Given the description of an element on the screen output the (x, y) to click on. 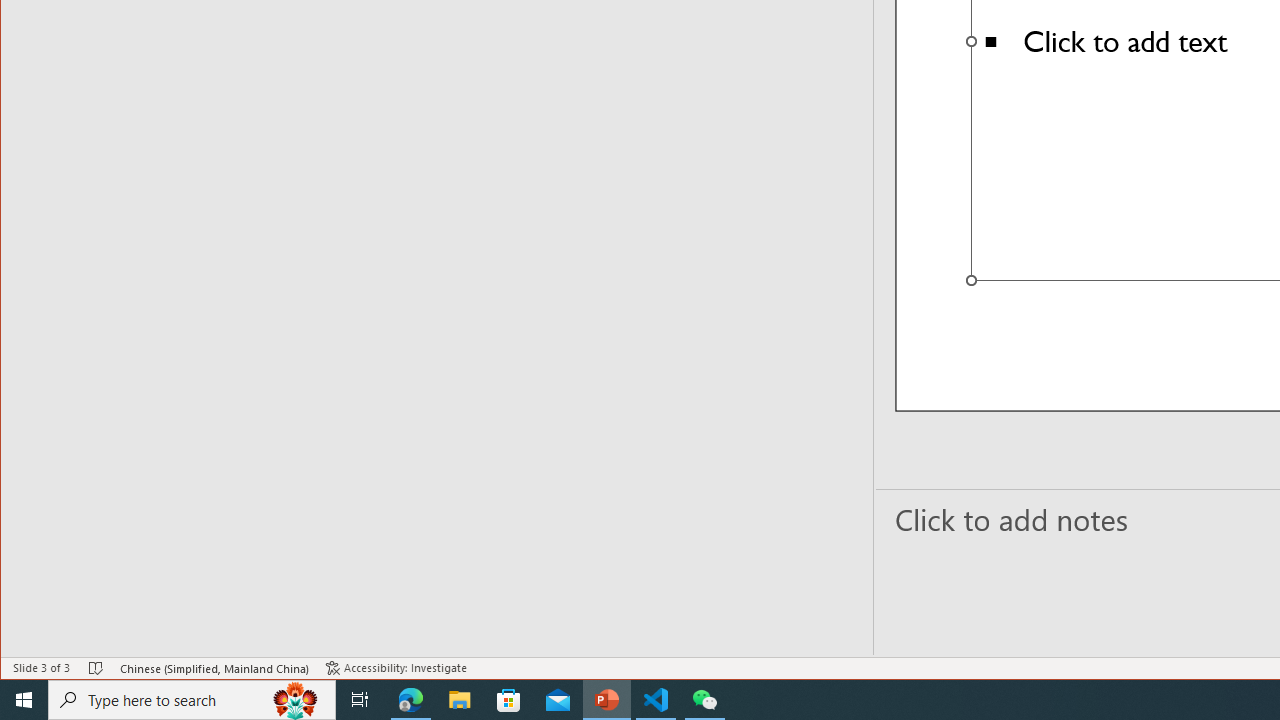
WeChat - 1 running window (704, 699)
